Given the description of an element on the screen output the (x, y) to click on. 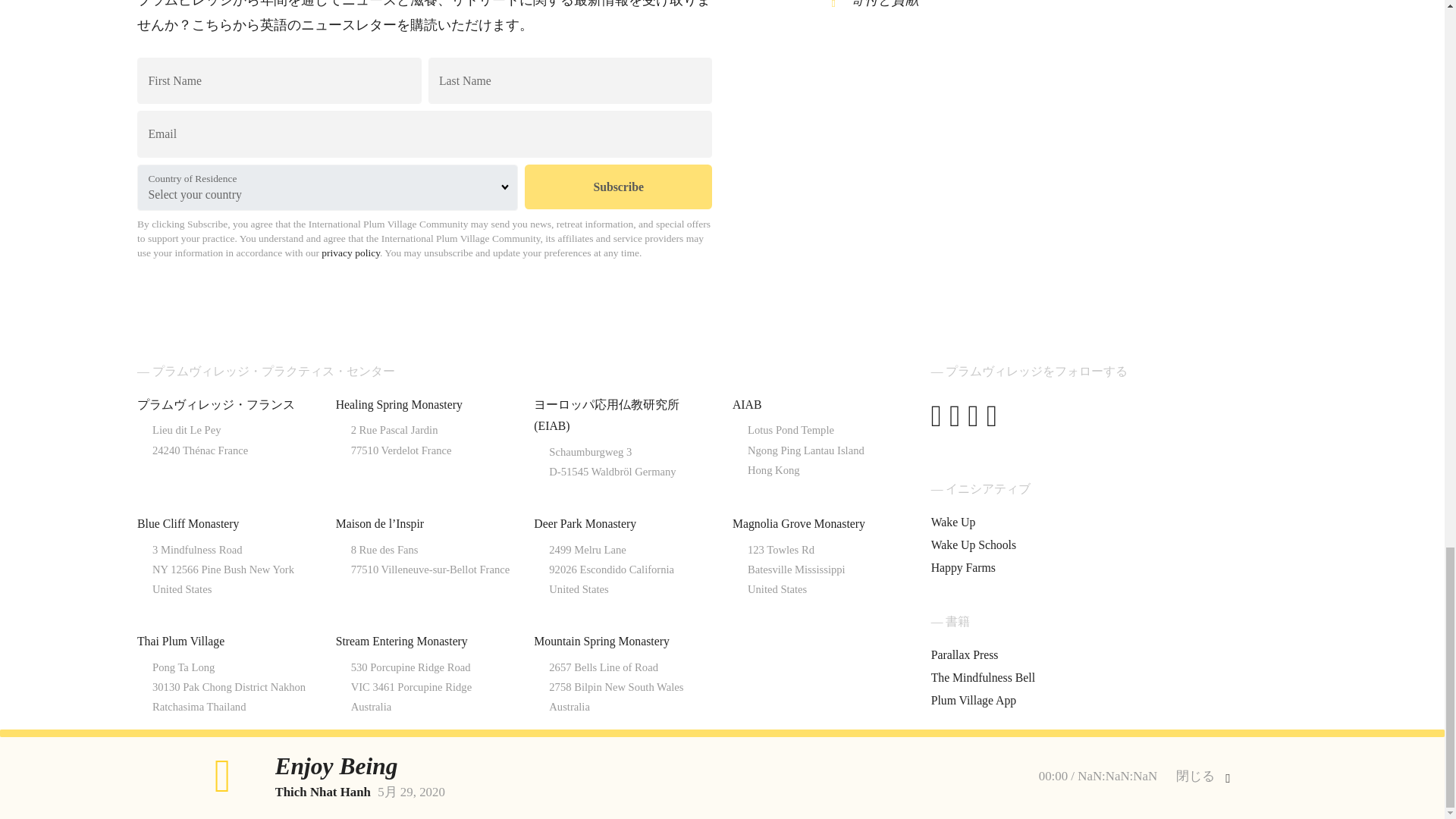
Subscribe (617, 186)
